Given the description of an element on the screen output the (x, y) to click on. 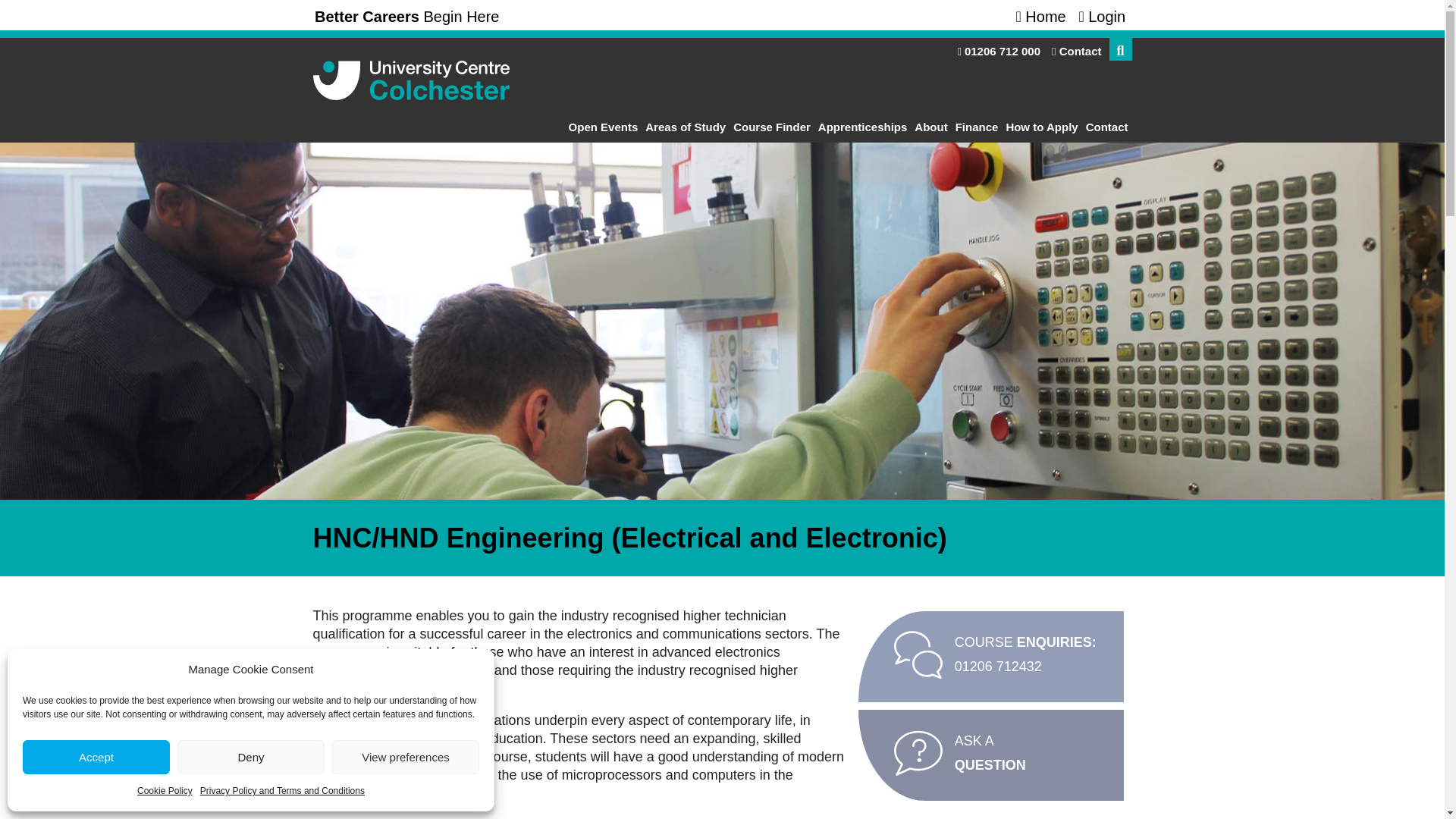
About (930, 127)
View preferences (405, 756)
Apprenticeships (862, 127)
Contact (1075, 51)
Cookie Policy (164, 791)
Accept (96, 756)
Finance (977, 127)
Course Finder (771, 127)
Areas of Study (685, 127)
Contact (1106, 127)
How to Apply (1041, 127)
Deny (250, 756)
Open Events (603, 127)
Search UCC (1119, 48)
